Given the description of an element on the screen output the (x, y) to click on. 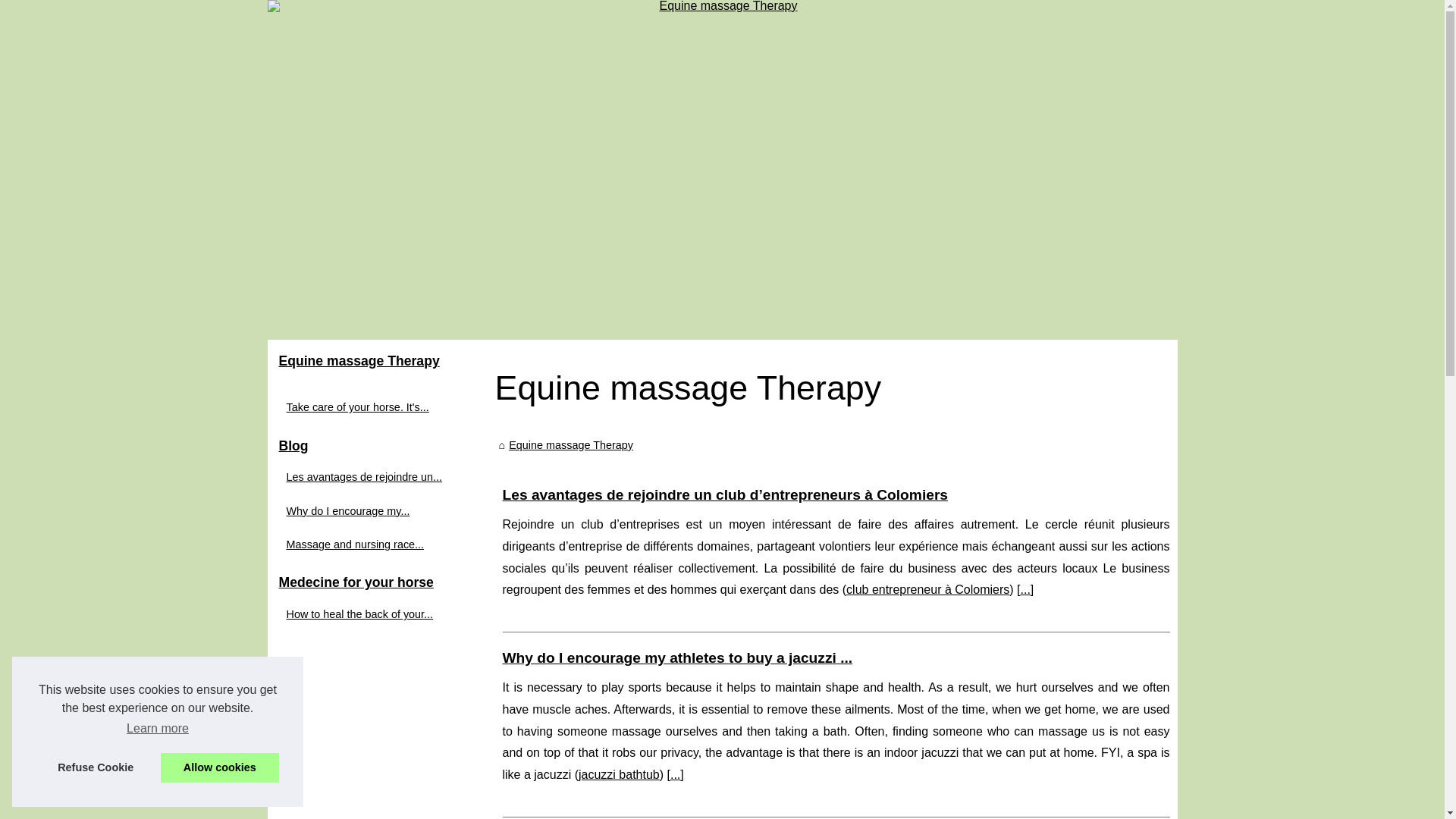
Why do I encourage my athletes to buy a jacuzzi ... (676, 657)
Blog (380, 446)
Les avantages de rejoindre un... (373, 476)
Refuse Cookie (95, 767)
Why do I encourage my athletes to buy a jacuzzi ... (676, 657)
Medecine for your horse (380, 582)
Take care of your horse. It's... (373, 407)
Allow cookies (219, 767)
Equine massage Therapy (570, 444)
How to heal the back of your... (373, 614)
